Given the description of an element on the screen output the (x, y) to click on. 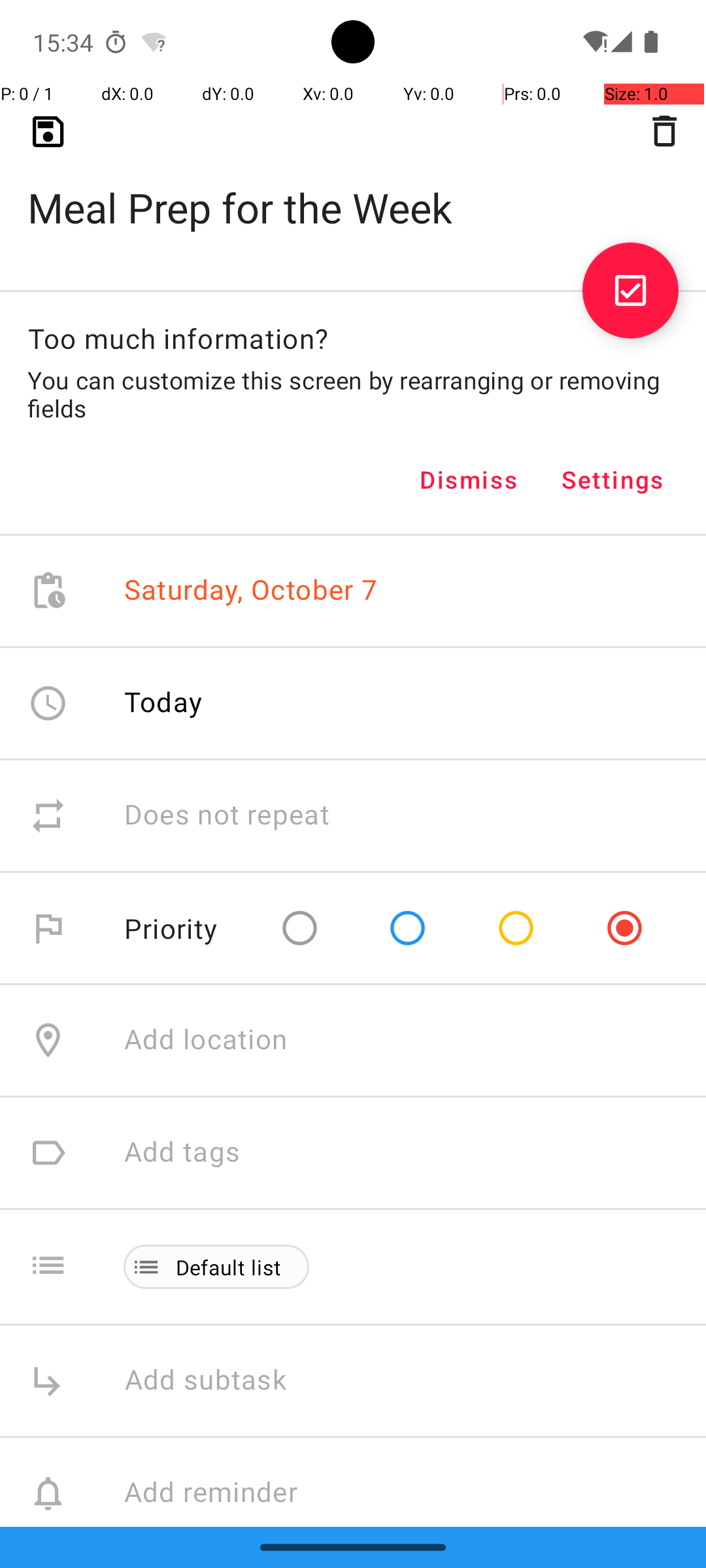
Saturday, October 7 Element type: android.widget.TextView (250, 590)
